Given the description of an element on the screen output the (x, y) to click on. 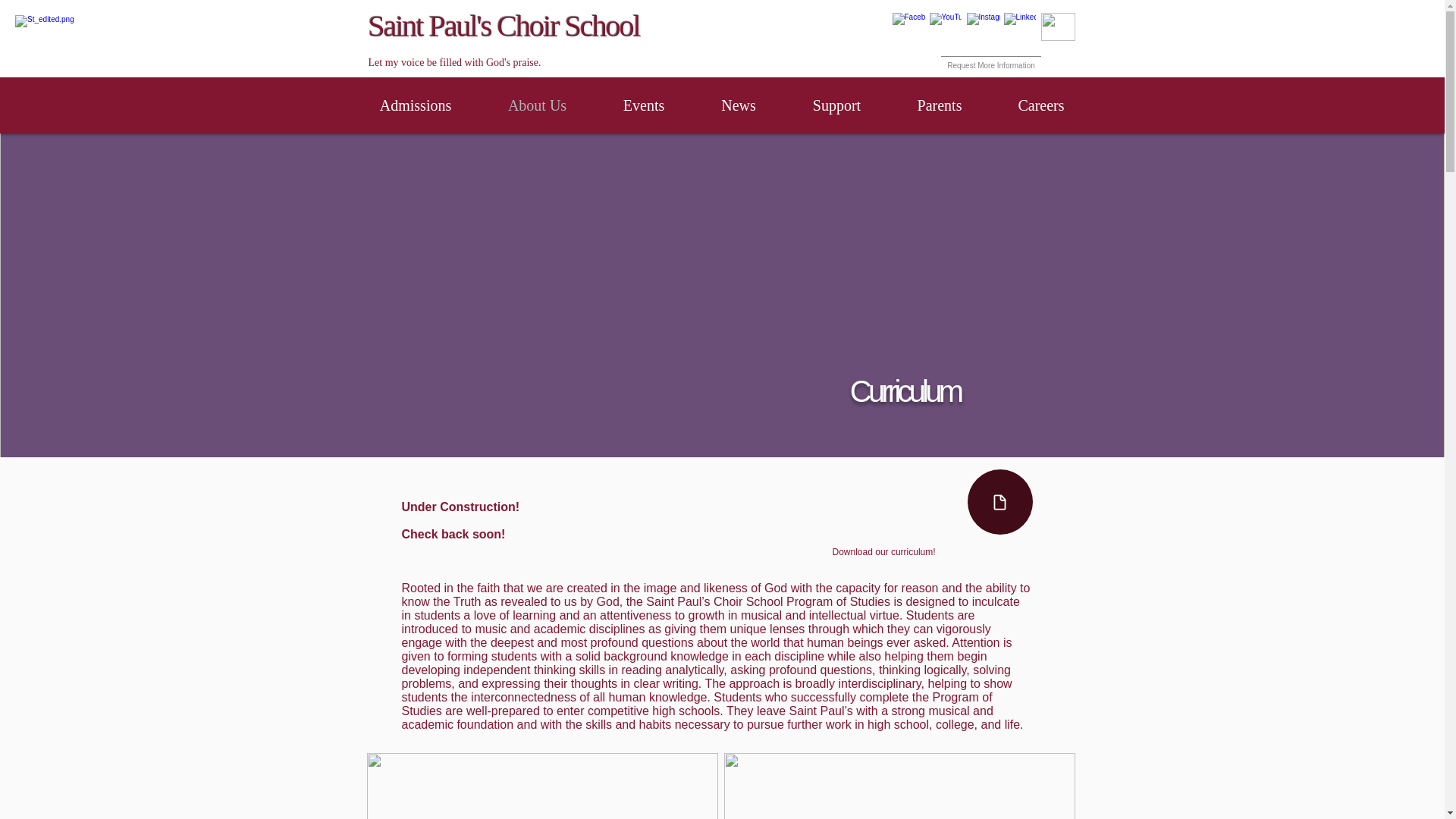
News (738, 105)
Parents (939, 105)
Hand drawn smiley (1057, 26)
Request More Information (991, 58)
Careers (1041, 105)
About Us (536, 105)
Admissions (416, 105)
Events (643, 105)
